Given the description of an element on the screen output the (x, y) to click on. 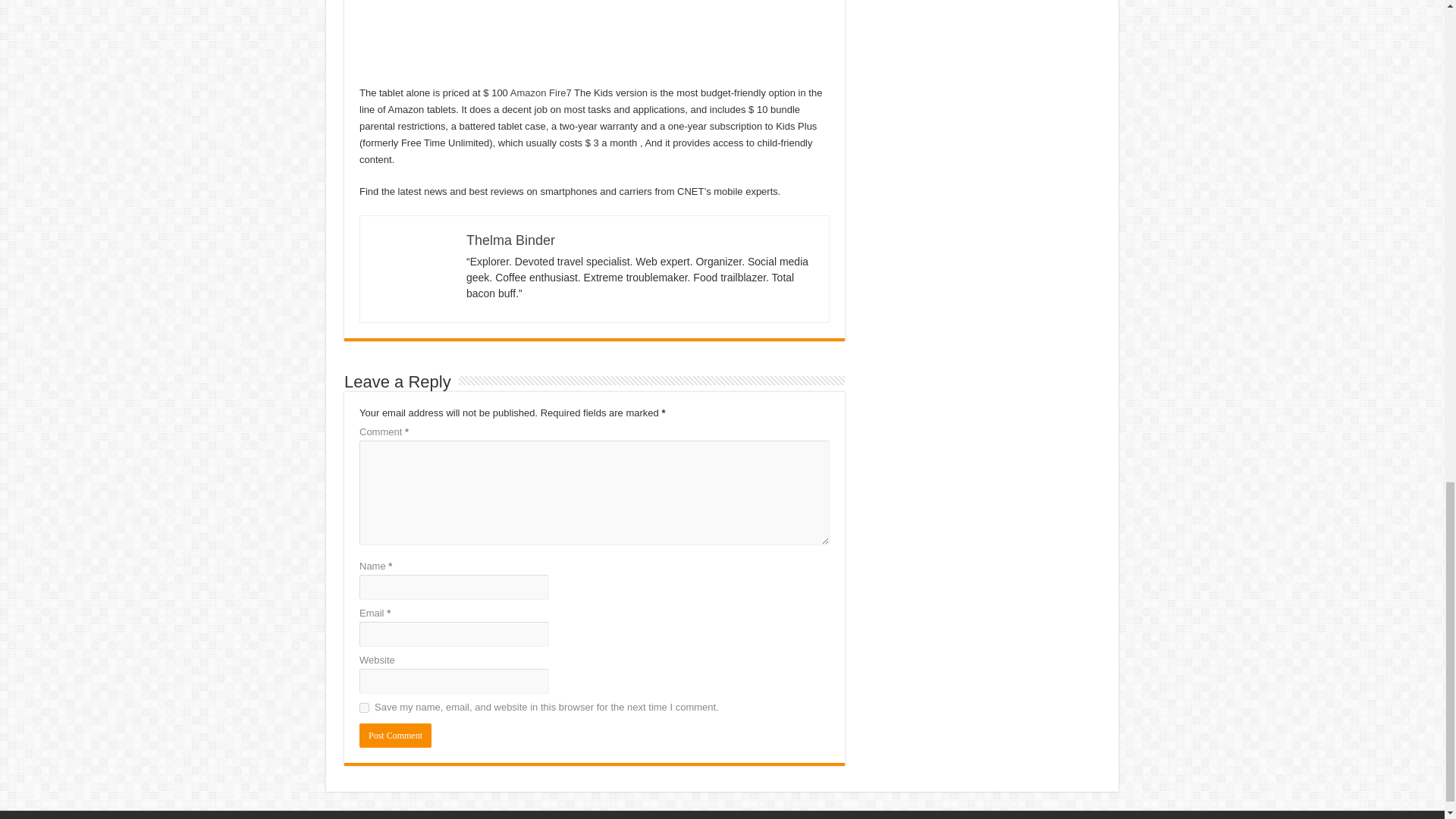
Thelma Binder (509, 240)
yes (364, 707)
Amazon Fire7 (541, 92)
Post Comment (394, 735)
